Given the description of an element on the screen output the (x, y) to click on. 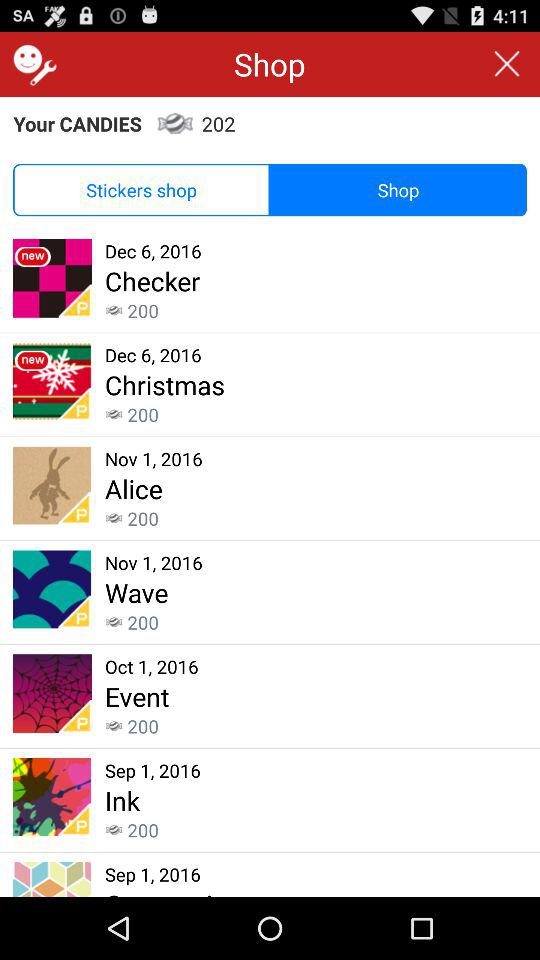
press the app below nov 1, 2016 item (136, 592)
